Given the description of an element on the screen output the (x, y) to click on. 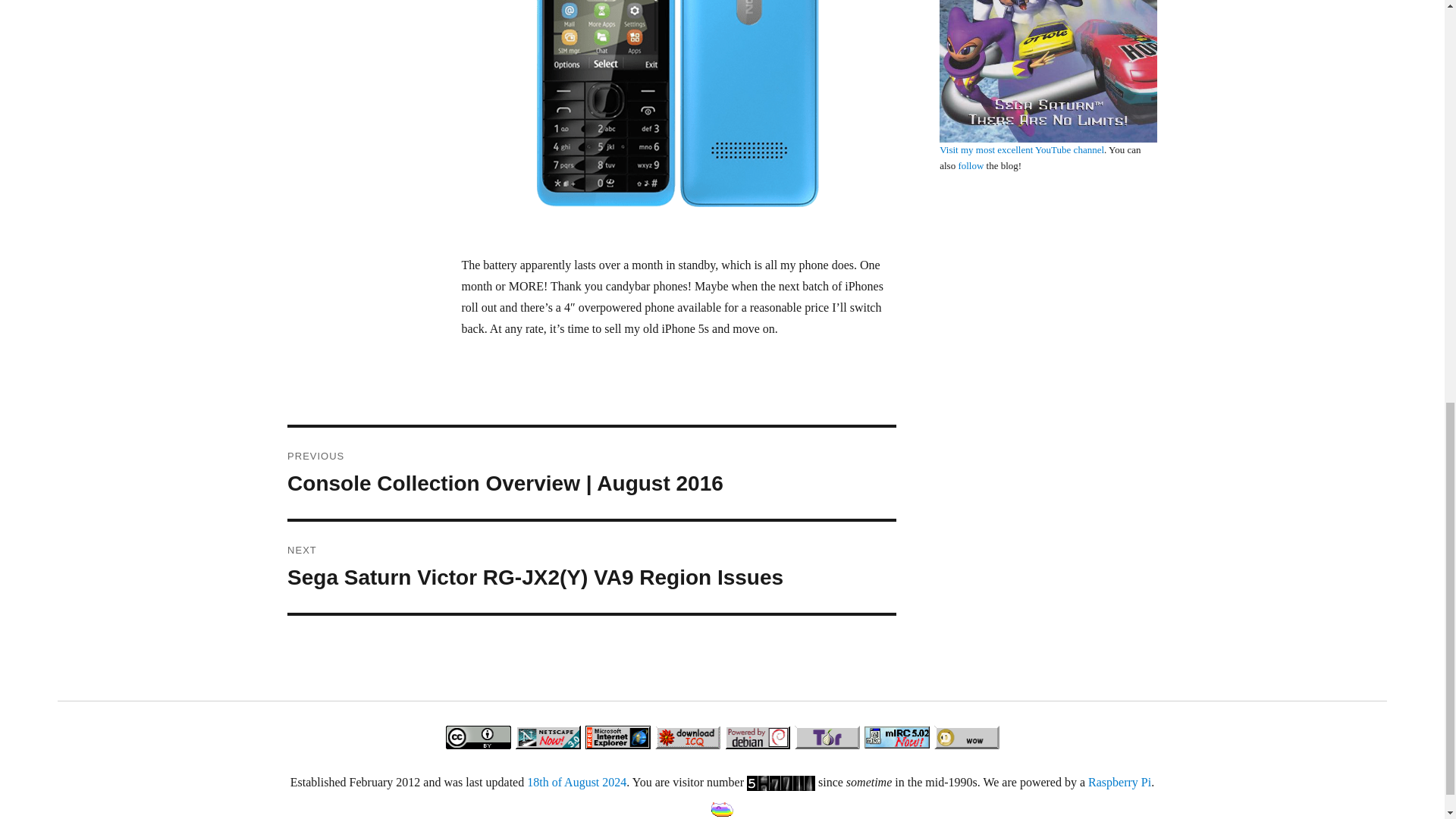
mIRC for all! (896, 737)
Tor - Anonymity Online! (826, 736)
18th of August 2024 (576, 781)
Internet Explorer (616, 736)
Creative Commons License (477, 736)
Visit my most excellent YouTube channel (1021, 149)
ICQ (686, 736)
Raspberry Pi (1119, 781)
follow (971, 165)
Netscape (546, 736)
